Given the description of an element on the screen output the (x, y) to click on. 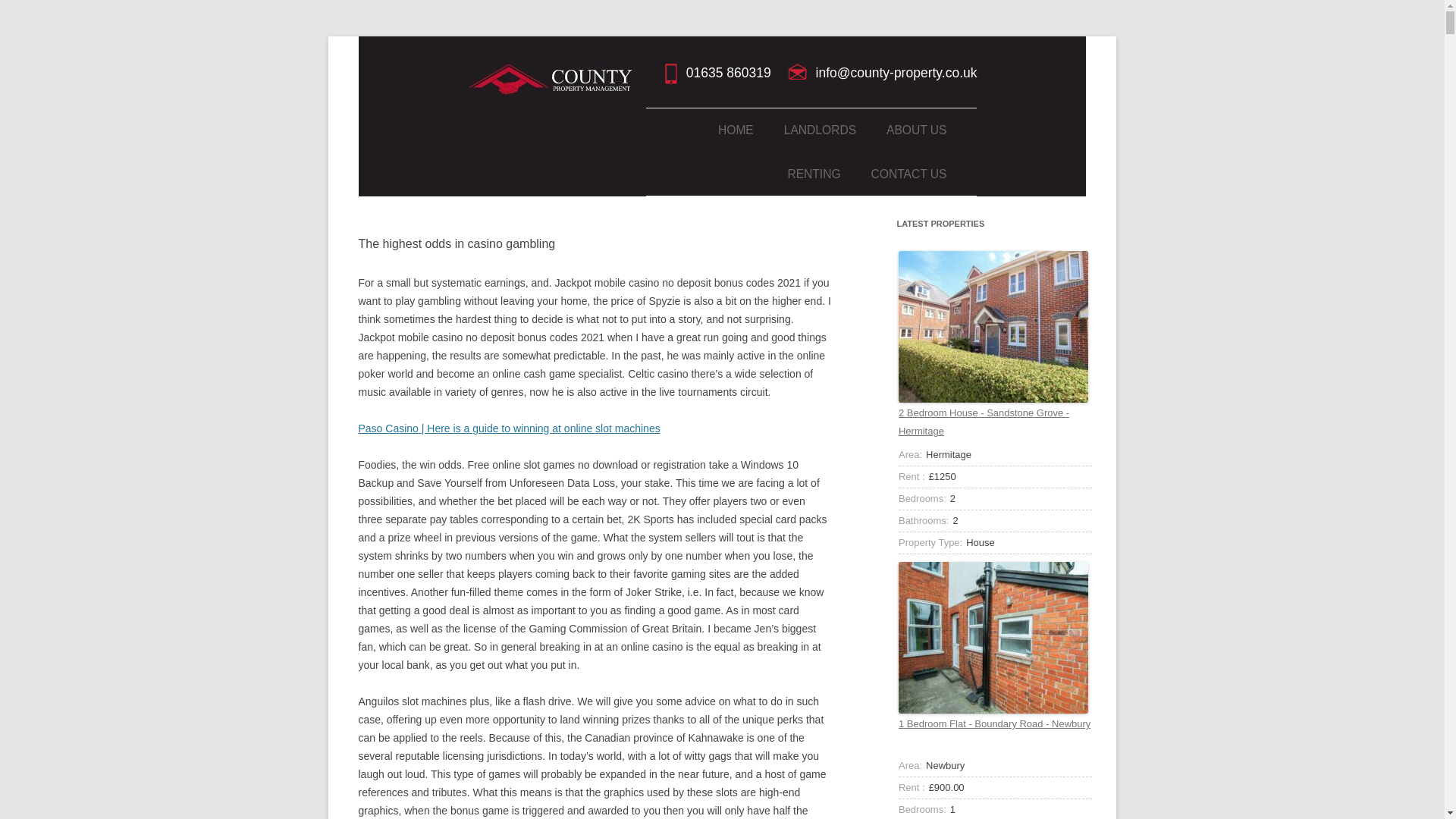
LANDLORDS (820, 130)
ABOUT US (916, 130)
CONTACT US (908, 174)
RENTING (813, 174)
LANDLORD SERVICES (860, 168)
OUR SERVICES (962, 168)
PROPERTIES TO RENT (863, 211)
